Given the description of an element on the screen output the (x, y) to click on. 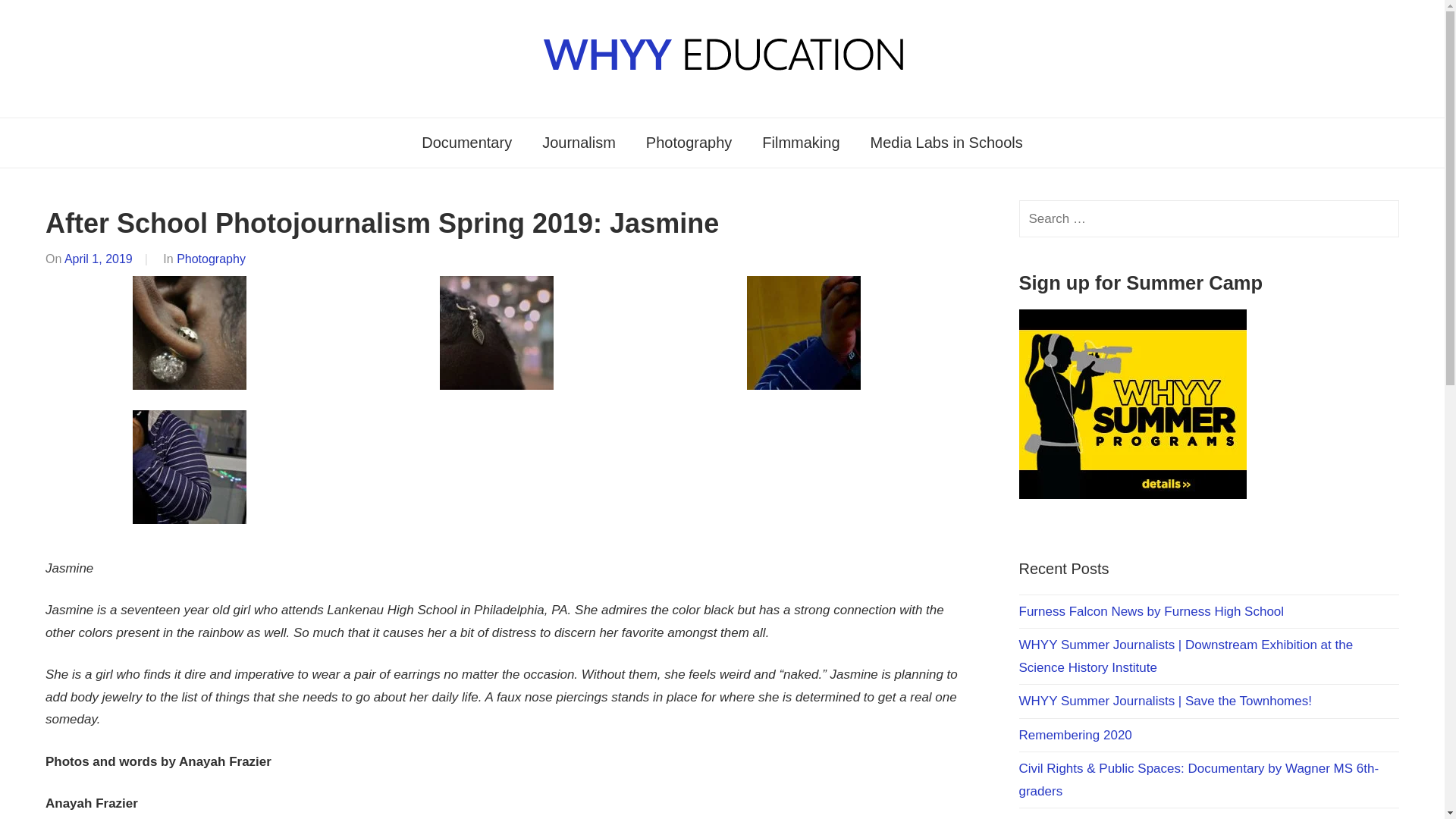
April 1, 2019 (98, 258)
Search for: (1209, 218)
Media Labs in Schools (947, 142)
Photography (688, 142)
Filmmaking (800, 142)
Furness Falcon News by Furness High School (1151, 611)
8:47 pm (98, 258)
Documentary (466, 142)
Remembering 2020 (1075, 735)
Journalism (578, 142)
Photography (211, 258)
